Given the description of an element on the screen output the (x, y) to click on. 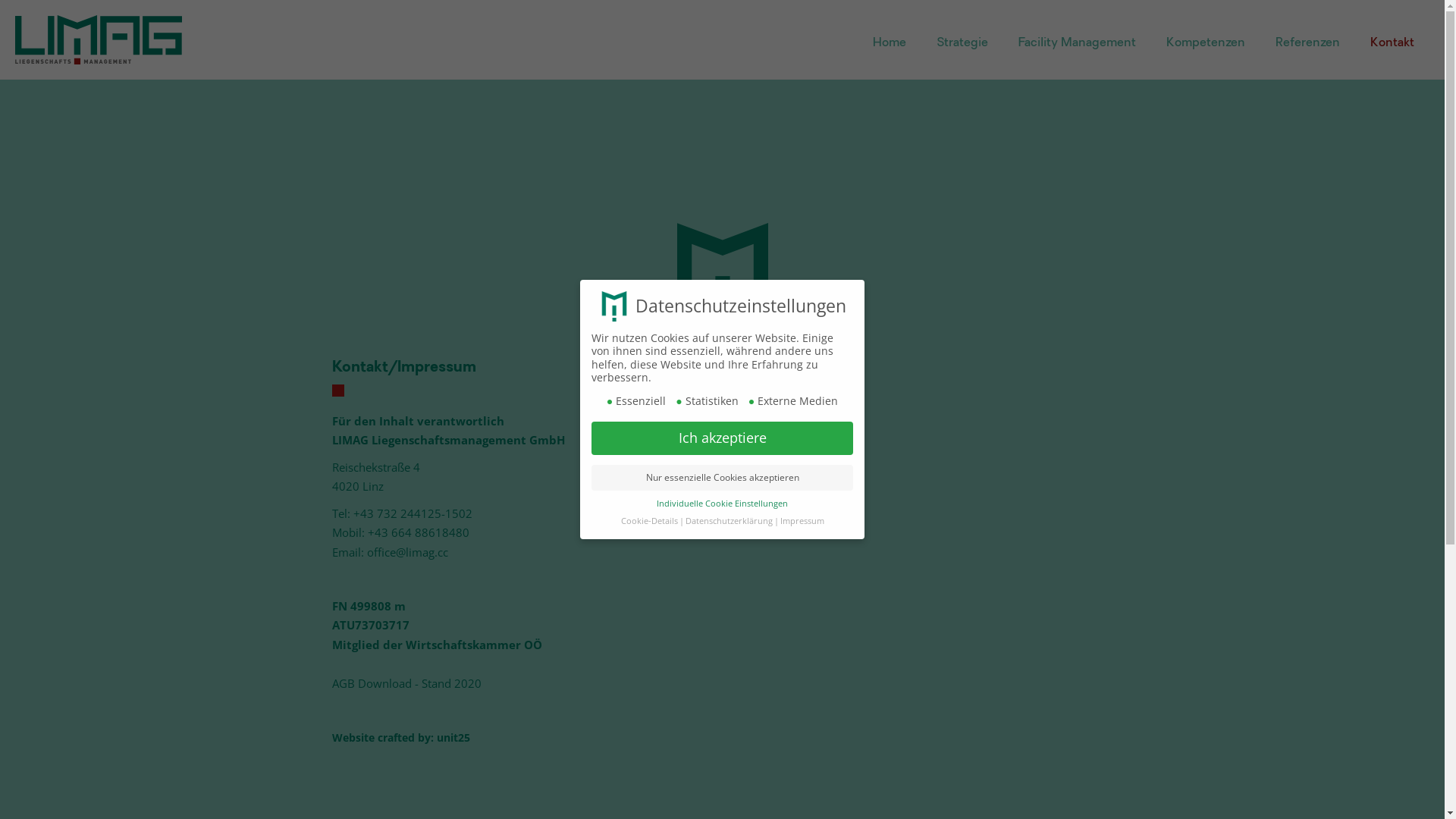
+43 664 88618480 Element type: text (417, 531)
Individuelle Cookie Einstellungen Element type: text (721, 503)
+43 732 244125-1502 Element type: text (412, 512)
office@limag.cc Element type: text (407, 551)
Kompetenzen Element type: text (1205, 43)
Ich akzeptiere Element type: text (722, 438)
Facility Management Element type: text (1076, 43)
unit25 Element type: text (453, 736)
icon_limag Element type: hover (721, 278)
AGB Download - Stand 2020 Element type: text (406, 682)
Impressum Element type: text (801, 520)
Referenzen Element type: text (1307, 43)
Nur essenzielle Cookies akzeptieren Element type: text (722, 477)
Cookie-Details Element type: text (648, 520)
Kontakt Element type: text (1391, 43)
Strategie Element type: text (961, 43)
Home Element type: text (889, 43)
